Given the description of an element on the screen output the (x, y) to click on. 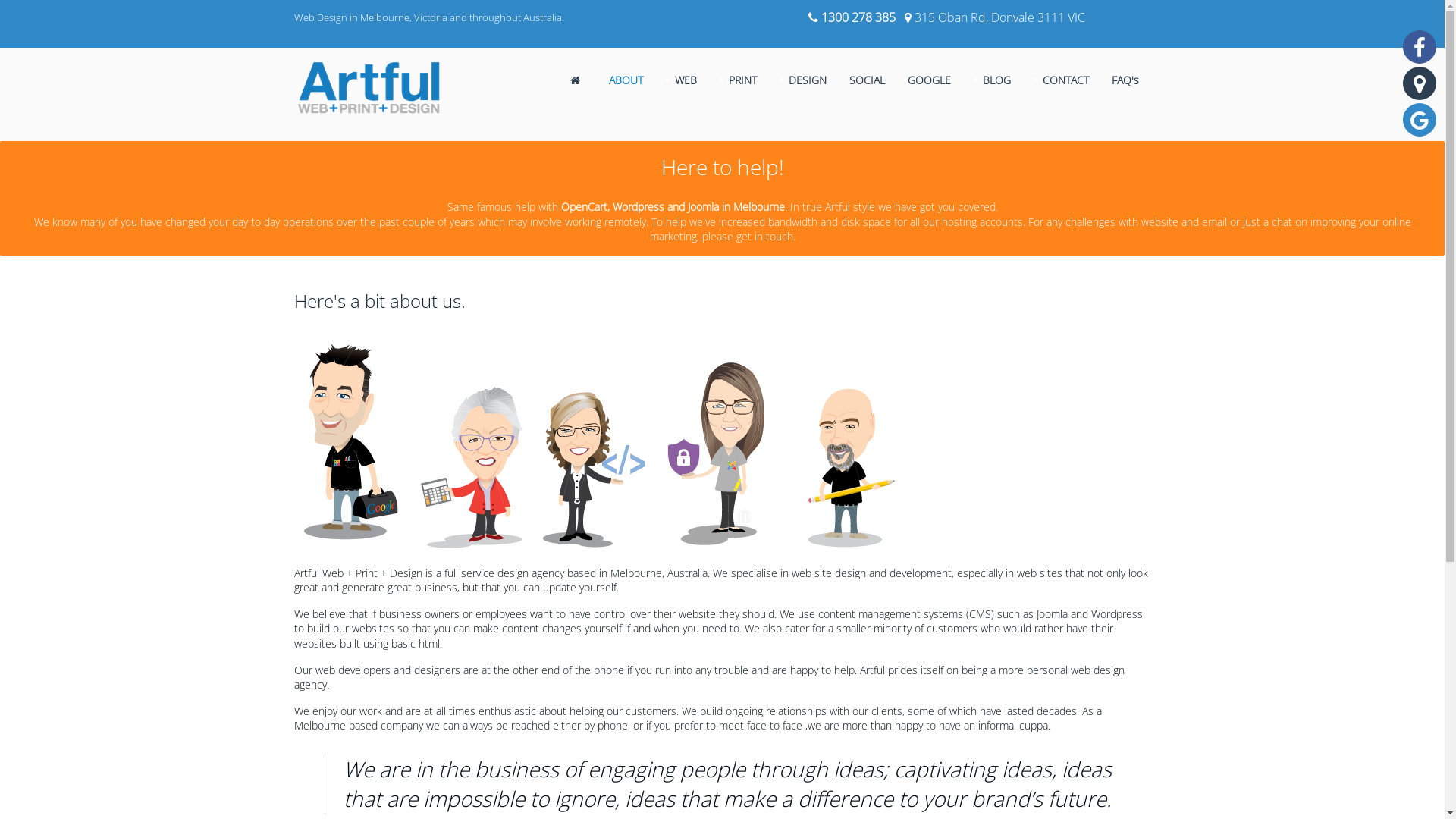
  Element type: text (577, 80)
Menu Element type: text (1447, 7)
ABOUT Element type: text (625, 79)
1300 278 385 Element type: text (858, 17)
FAQ's Element type: text (1125, 79)
WEB Element type: text (681, 79)
BLOG Element type: text (992, 79)
PRINT Element type: text (738, 79)
315 Oban Rd, Donvale 3111 VIC Element type: text (999, 17)
CONTACT Element type: text (1061, 79)
SOCIAL Element type: text (866, 79)
Web Design in Melbourne, Victoria and throughout Australia. Element type: text (429, 17)
DESIGN Element type: text (802, 79)
GOOGLE Element type: text (929, 79)
